Given the description of an element on the screen output the (x, y) to click on. 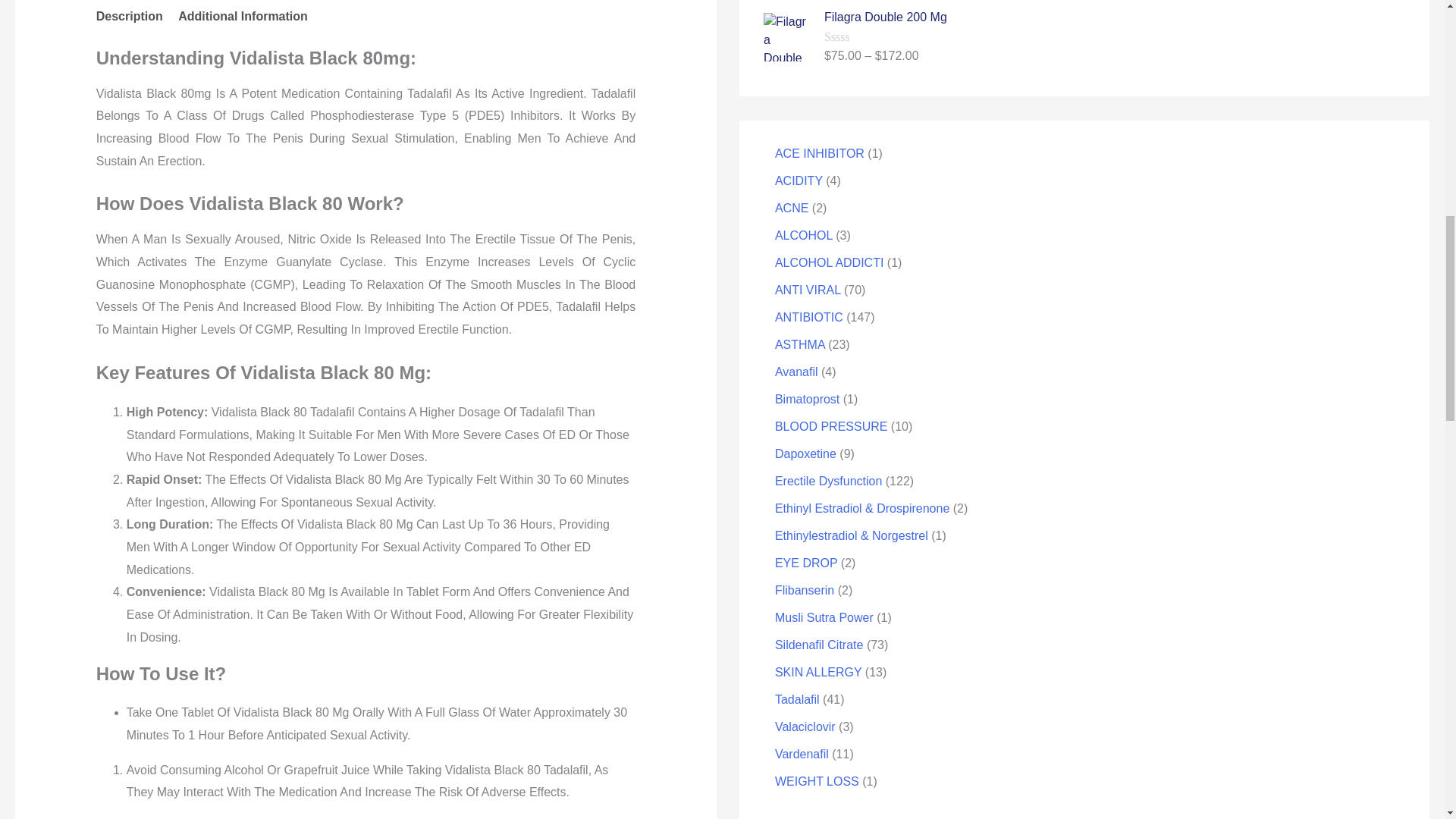
Description (129, 17)
Additional Information (242, 17)
